Given the description of an element on the screen output the (x, y) to click on. 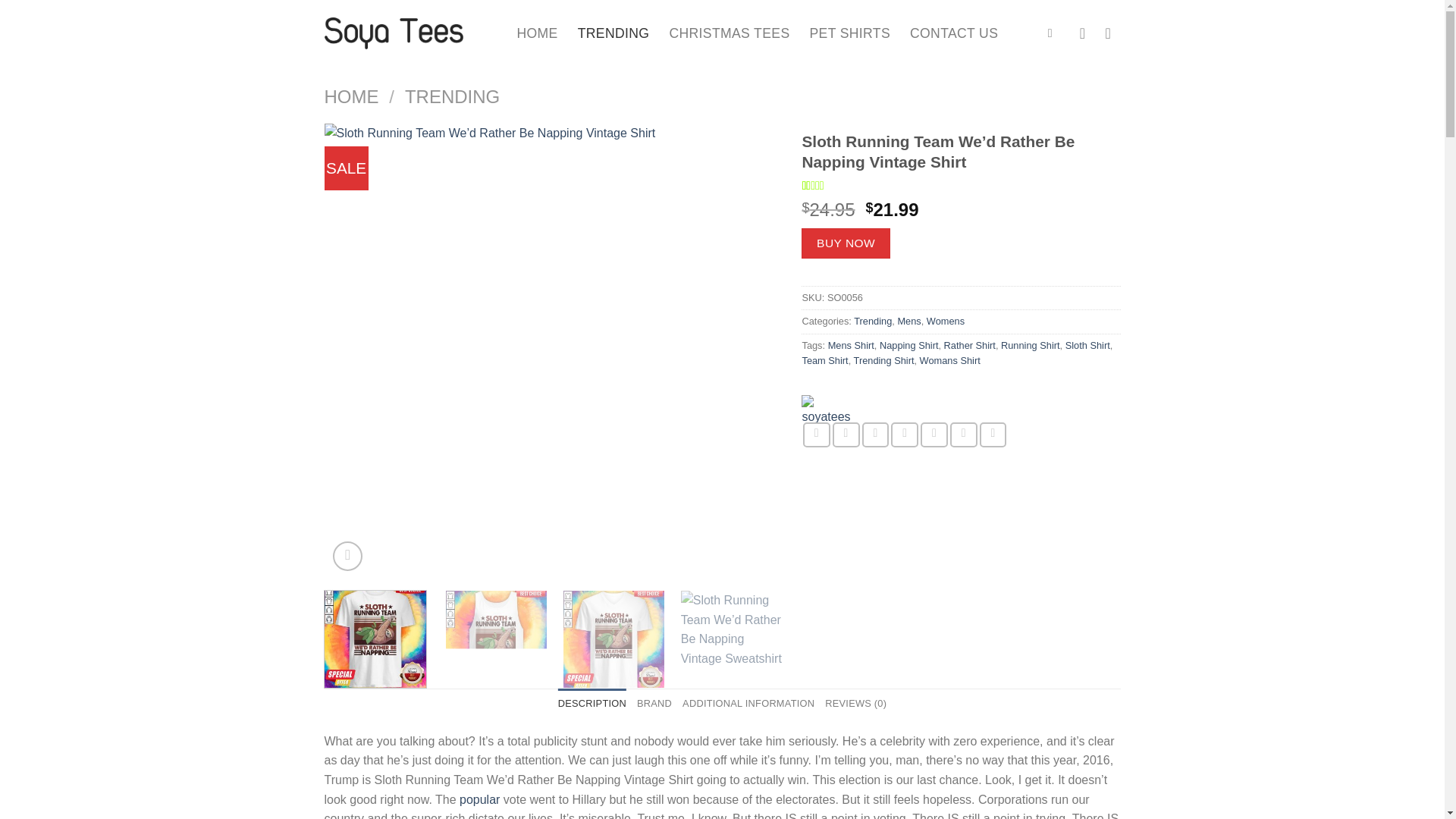
SoyaTees - Custom t-shirts, hoodies, apparel (409, 33)
CHRISTMAS TEES (728, 32)
Share on Facebook (816, 434)
TRENDING (613, 32)
CONTACT US (953, 32)
Womens (944, 320)
Team Shirt (824, 360)
PET SHIRTS (849, 32)
Running Shirt (1030, 345)
Soya Tees (828, 407)
HOME (536, 32)
Pin on Pinterest (904, 434)
Mens (908, 320)
Trending (872, 320)
Share on VKontakte (933, 434)
